Given the description of an element on the screen output the (x, y) to click on. 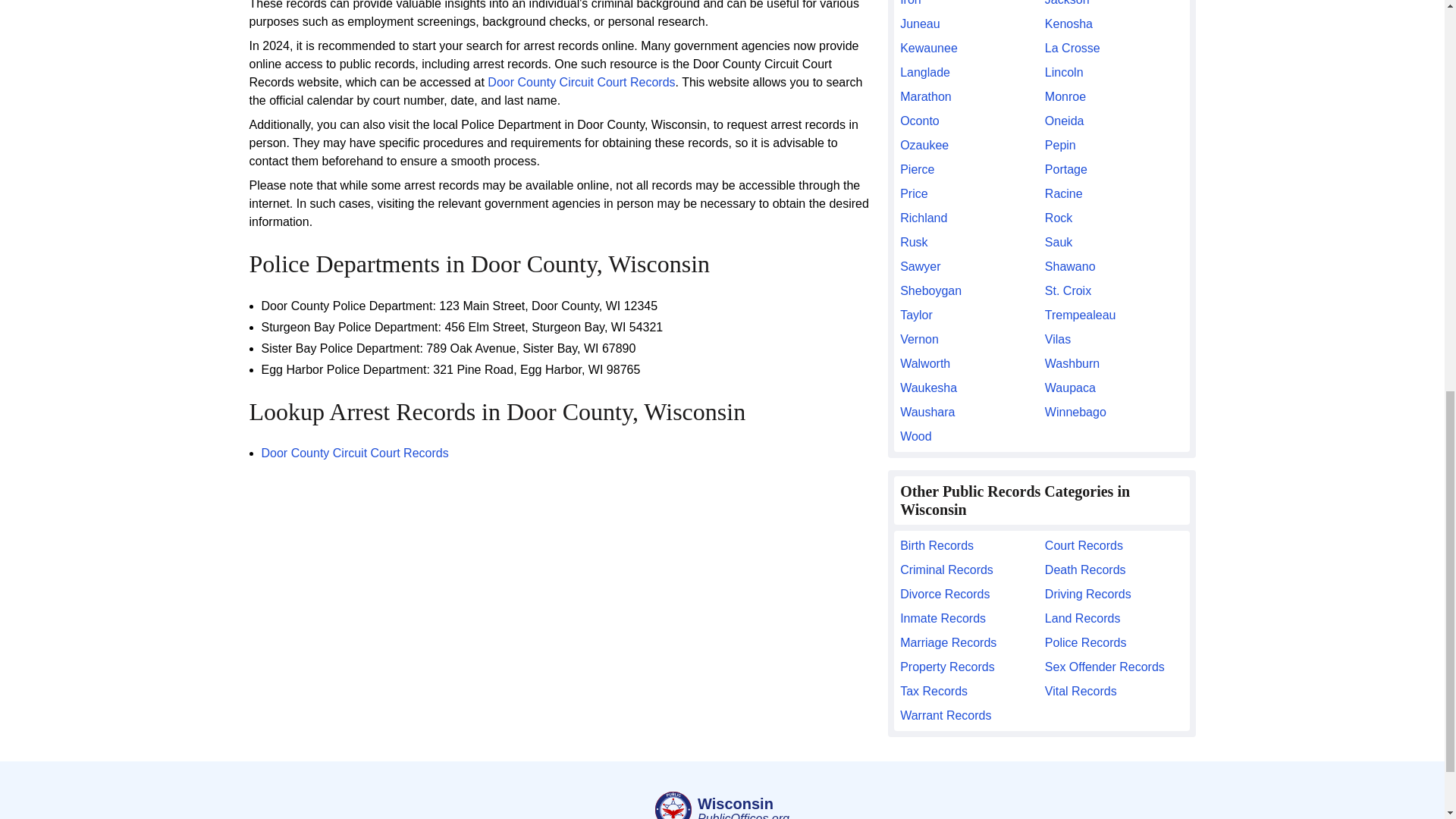
Iron (969, 4)
Juneau (969, 24)
Door County Circuit Court Records (581, 82)
Kewaunee (969, 48)
Door County Circuit Court Records (354, 452)
Langlade (969, 72)
Jackson (1114, 4)
Kenosha (1114, 24)
La Crosse (1114, 48)
